Given the description of an element on the screen output the (x, y) to click on. 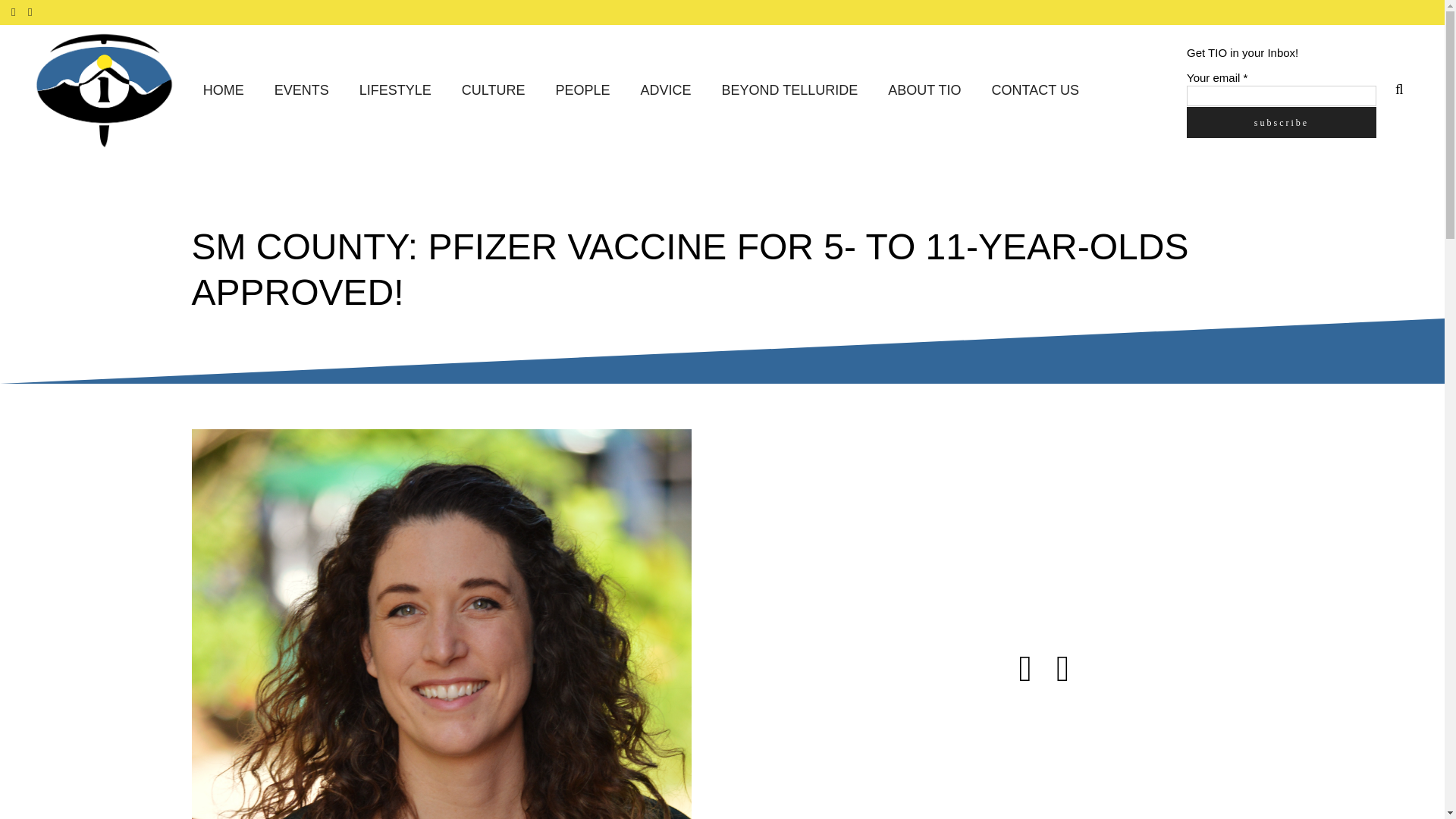
Subscribe (1280, 121)
CONTACT US (1035, 90)
BEYOND TELLURIDE (789, 90)
3rd party ad content (1116, 524)
Subscribe (1280, 121)
Your email (1280, 95)
3rd party ad content (1116, 760)
